Given the description of an element on the screen output the (x, y) to click on. 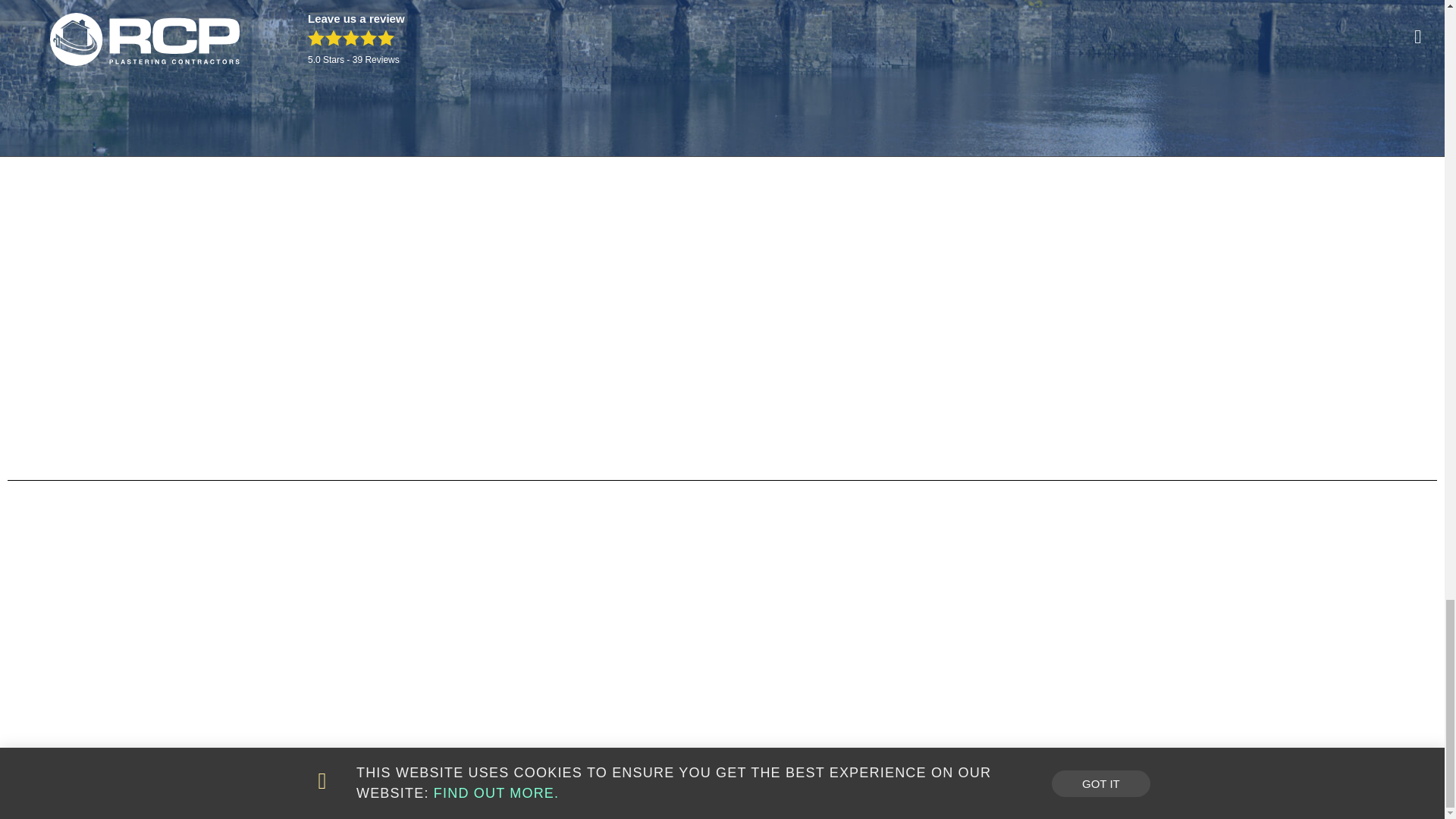
Sitemap (746, 777)
Barnstaple Web Design (505, 777)
RCP PLASTERING CONTRACTORS (374, 777)
